Given the description of an element on the screen output the (x, y) to click on. 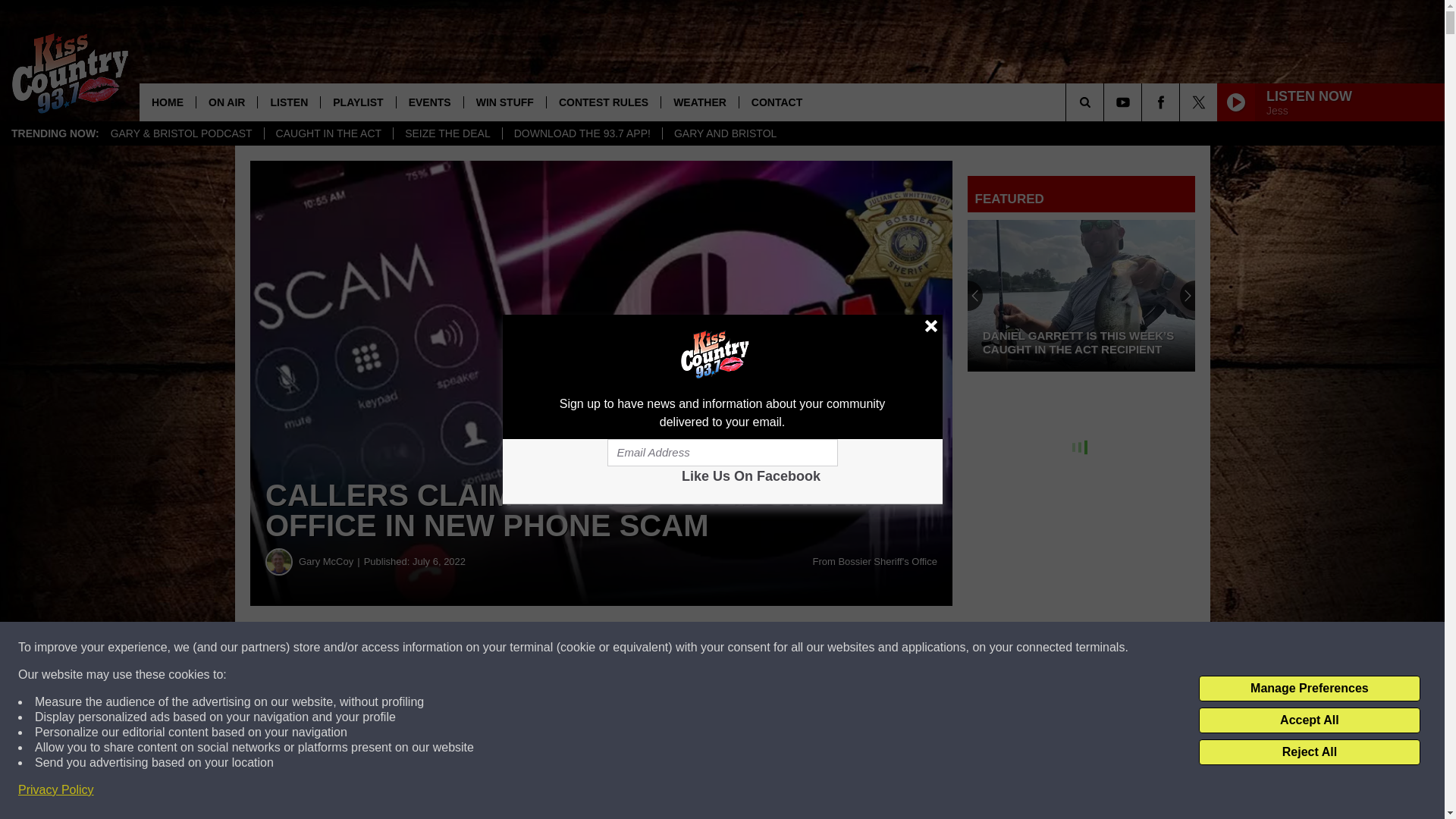
ON AIR (226, 102)
SEARCH (1106, 102)
Share on Twitter (741, 647)
EVENTS (429, 102)
CONTEST RULES (603, 102)
Email Address (722, 452)
PLAYLIST (357, 102)
SEIZE THE DEAL (447, 133)
Privacy Policy (55, 789)
WIN STUFF (504, 102)
GARY AND BRISTOL (724, 133)
DOWNLOAD THE 93.7 APP! (582, 133)
SEARCH (1106, 102)
Share on Facebook (460, 647)
Accept All (1309, 720)
